Given the description of an element on the screen output the (x, y) to click on. 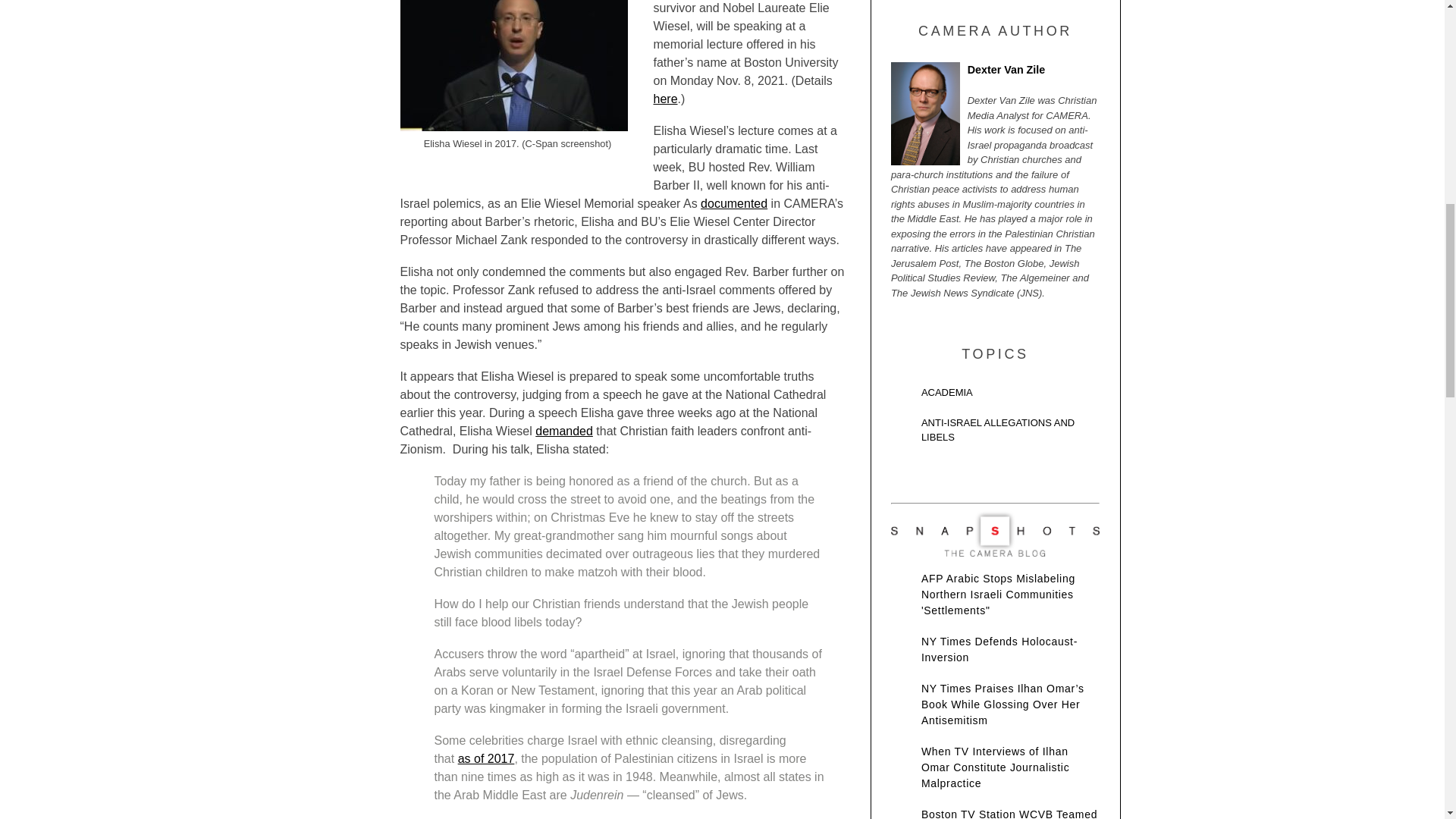
Dexter Van Zile (995, 73)
Anti-Israel Allegations and Libels (995, 433)
Academia (995, 395)
